Given the description of an element on the screen output the (x, y) to click on. 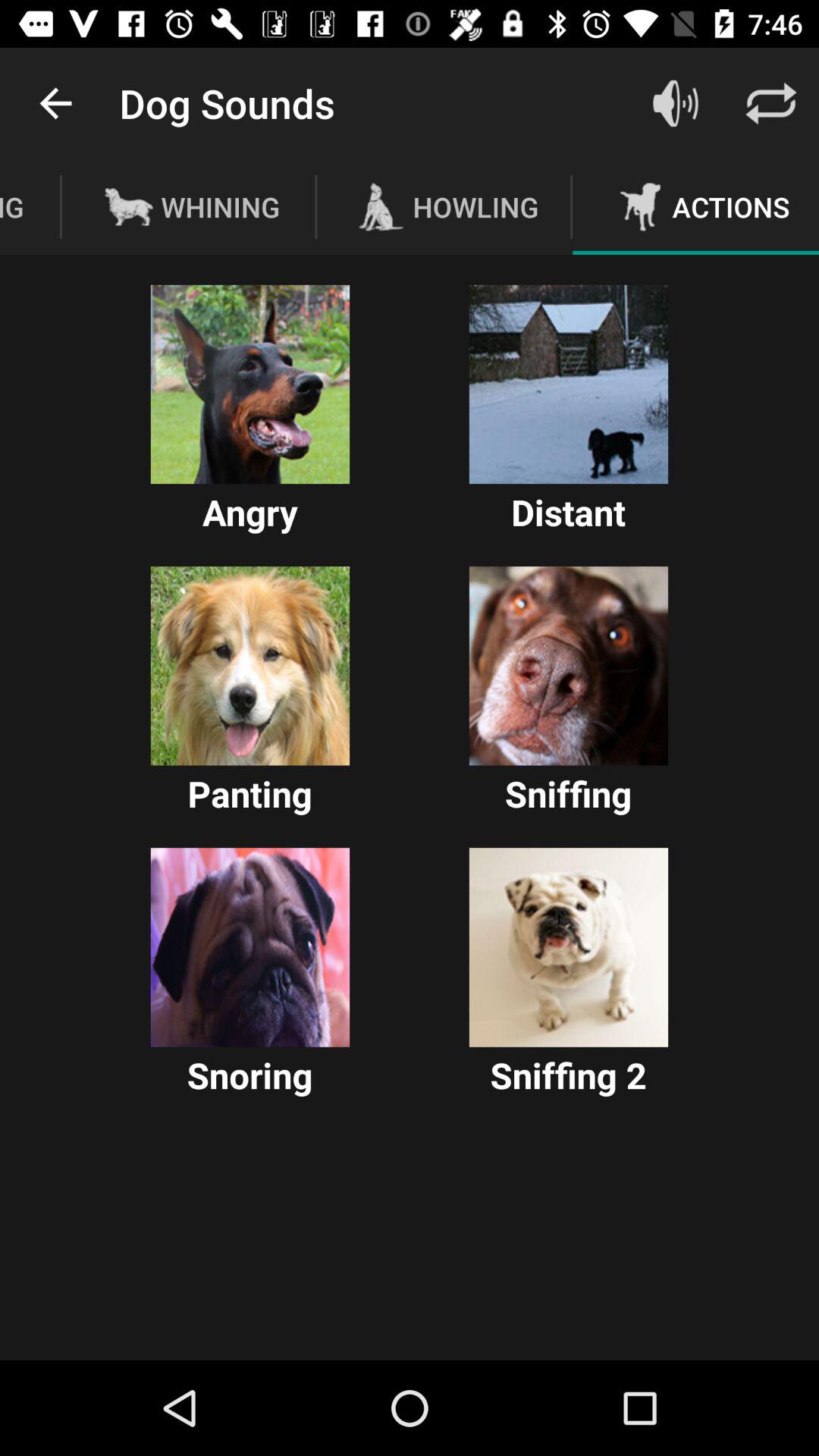
click to refresh (771, 103)
